Given the description of an element on the screen output the (x, y) to click on. 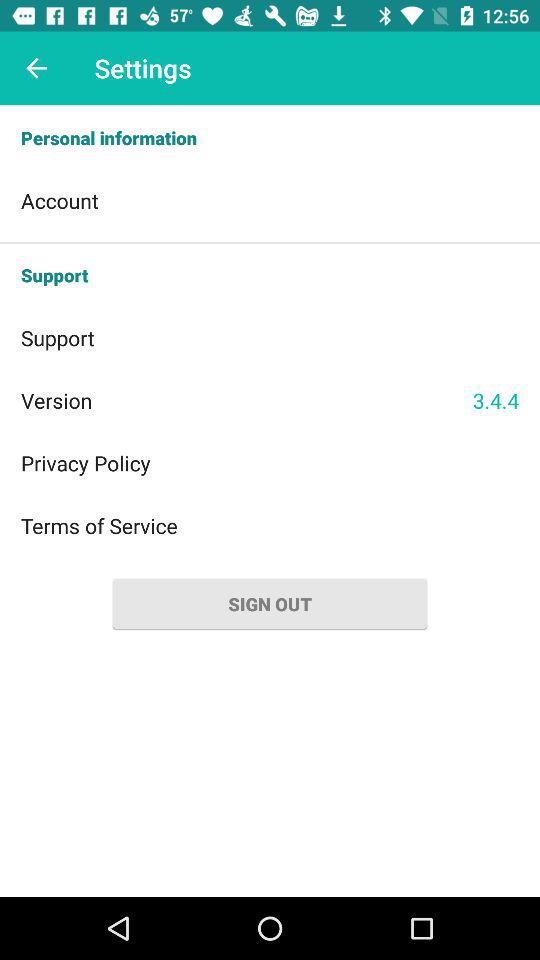
scroll to the 3.4.4 icon (495, 400)
